Given the description of an element on the screen output the (x, y) to click on. 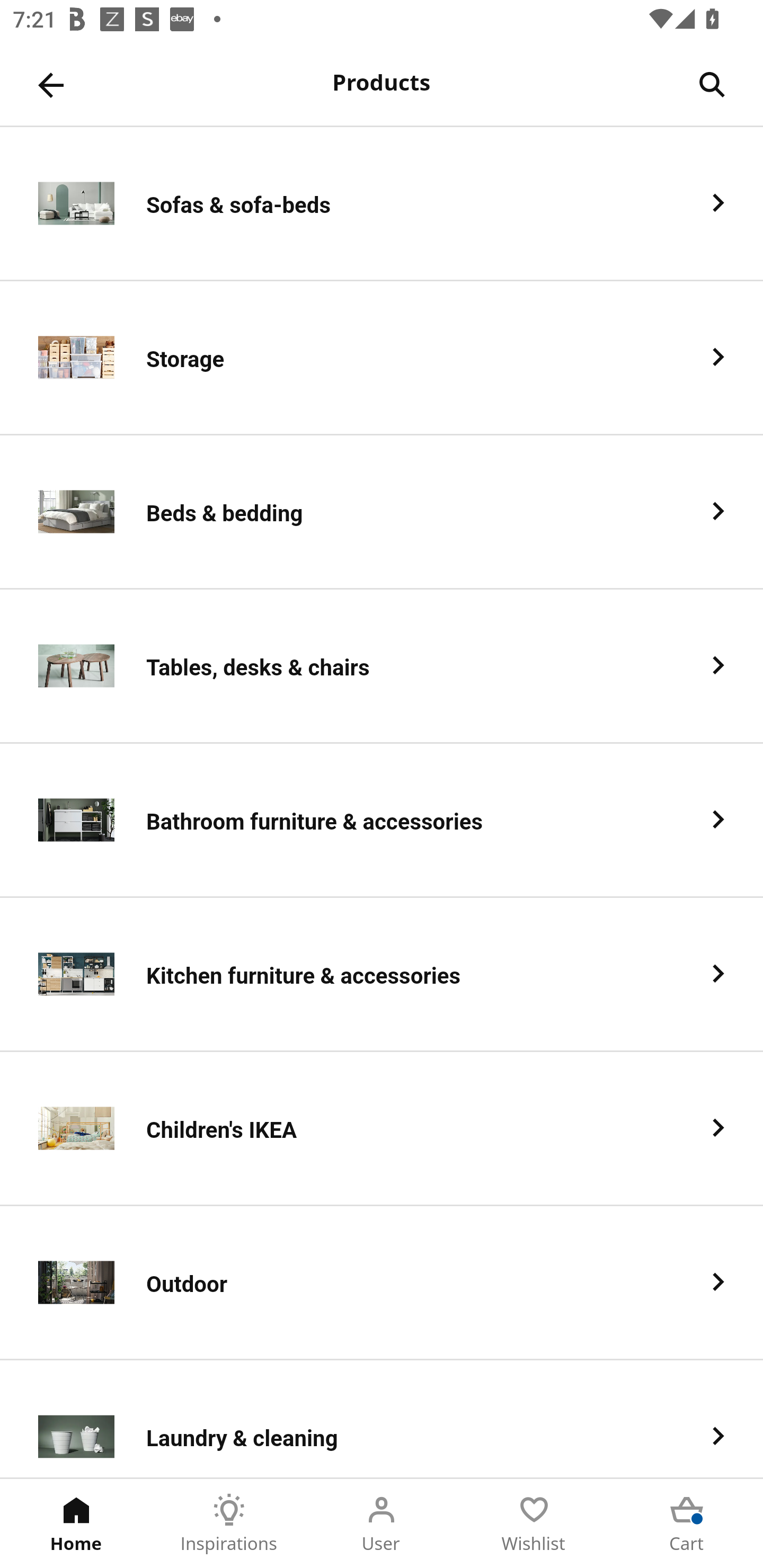
Sofas & sofa-beds (381, 203)
Storage (381, 357)
Beds & bedding (381, 512)
Tables, desks & chairs (381, 666)
Bathroom furniture & accessories (381, 820)
Kitchen furniture & accessories (381, 975)
Children's IKEA (381, 1128)
Outdoor (381, 1283)
Laundry & cleaning (381, 1419)
Home
Tab 1 of 5 (76, 1522)
Inspirations
Tab 2 of 5 (228, 1522)
User
Tab 3 of 5 (381, 1522)
Wishlist
Tab 4 of 5 (533, 1522)
Cart
Tab 5 of 5 (686, 1522)
